Given the description of an element on the screen output the (x, y) to click on. 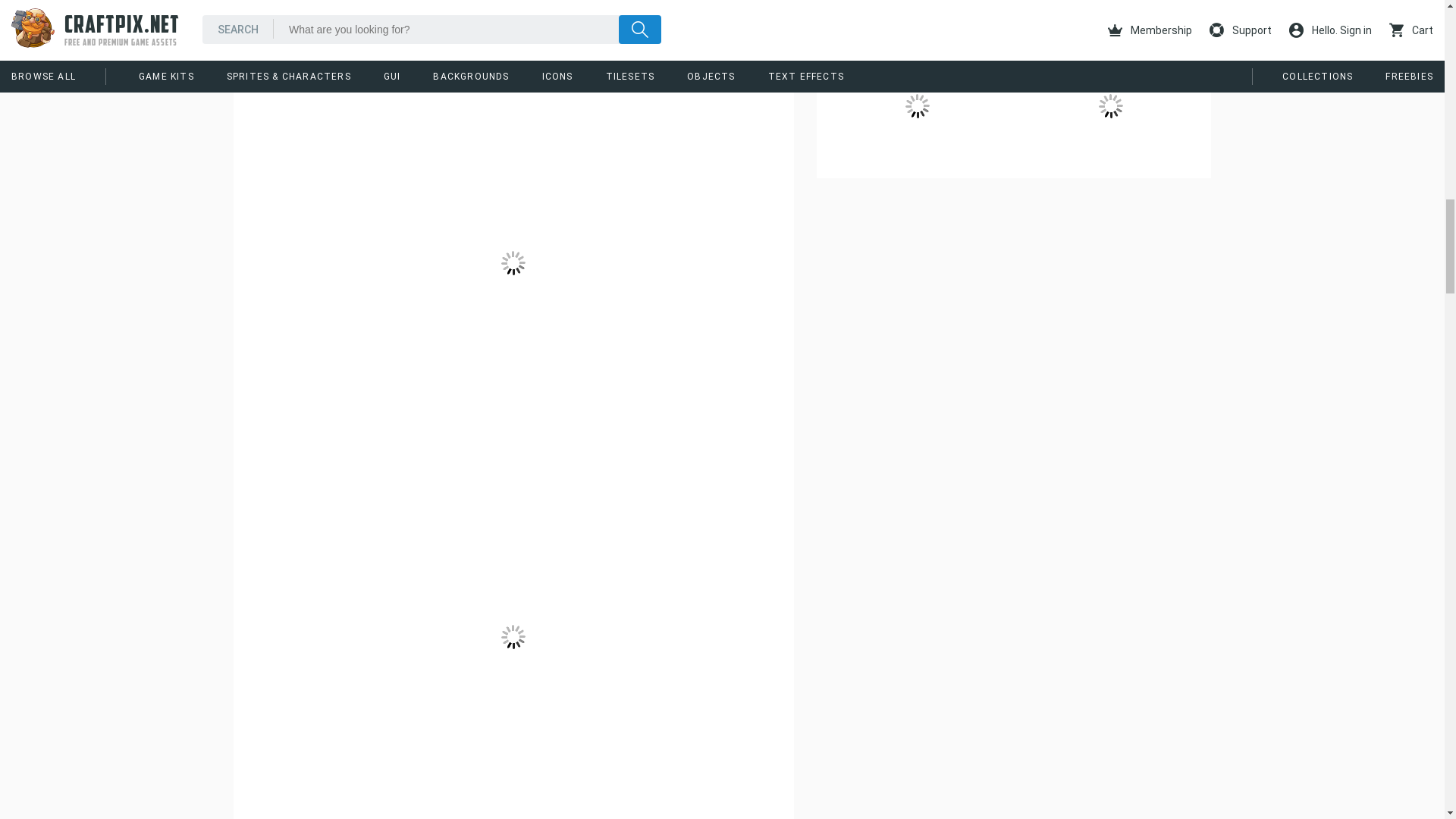
Top Down Tank Sprites Pixel Art (917, 17)
Top Down Smoke Sprites Pixel Art (917, 105)
Top Down Fire and Explosion Sprites Pixel Art (1110, 105)
Top Down Soldier Sprites Pixel Art (1110, 17)
